Given the description of an element on the screen output the (x, y) to click on. 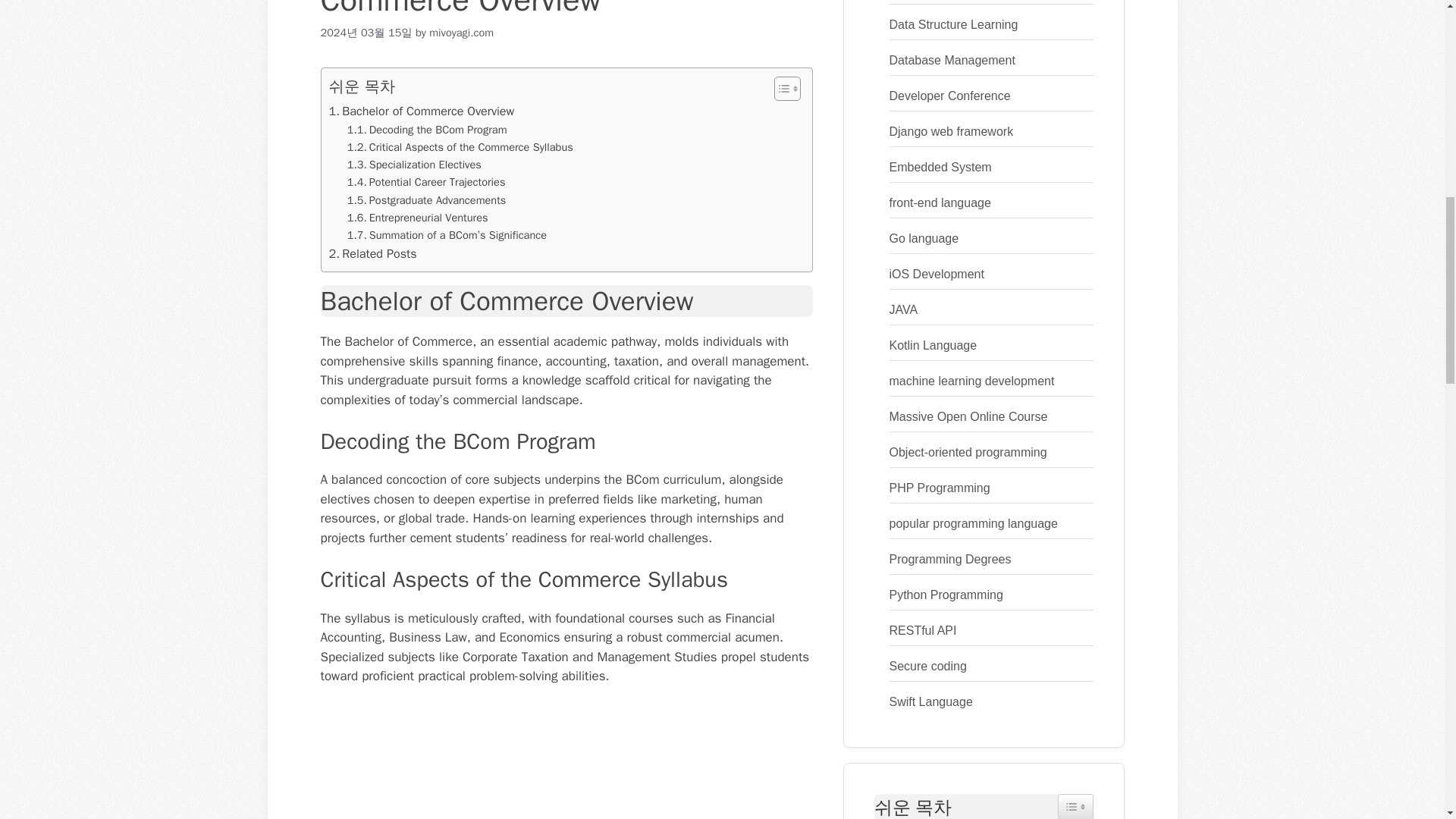
mivoyagi.com (461, 32)
Related Posts (372, 253)
Postgraduate Advancements (426, 200)
Potential Career Trajectories (426, 181)
Postgraduate Advancements (426, 200)
Bachelor of Commerce Overview (422, 111)
Decoding the BCom Program (426, 129)
Entrepreneurial Ventures (417, 217)
Potential Career Trajectories (426, 181)
Bachelor of Commerce Overview (422, 111)
View all posts by mivoyagi.com (461, 32)
Critical Aspects of the Commerce Syllabus (460, 147)
Specialization Electives (414, 164)
Specialization Electives (414, 164)
Entrepreneurial Ventures (417, 217)
